Given the description of an element on the screen output the (x, y) to click on. 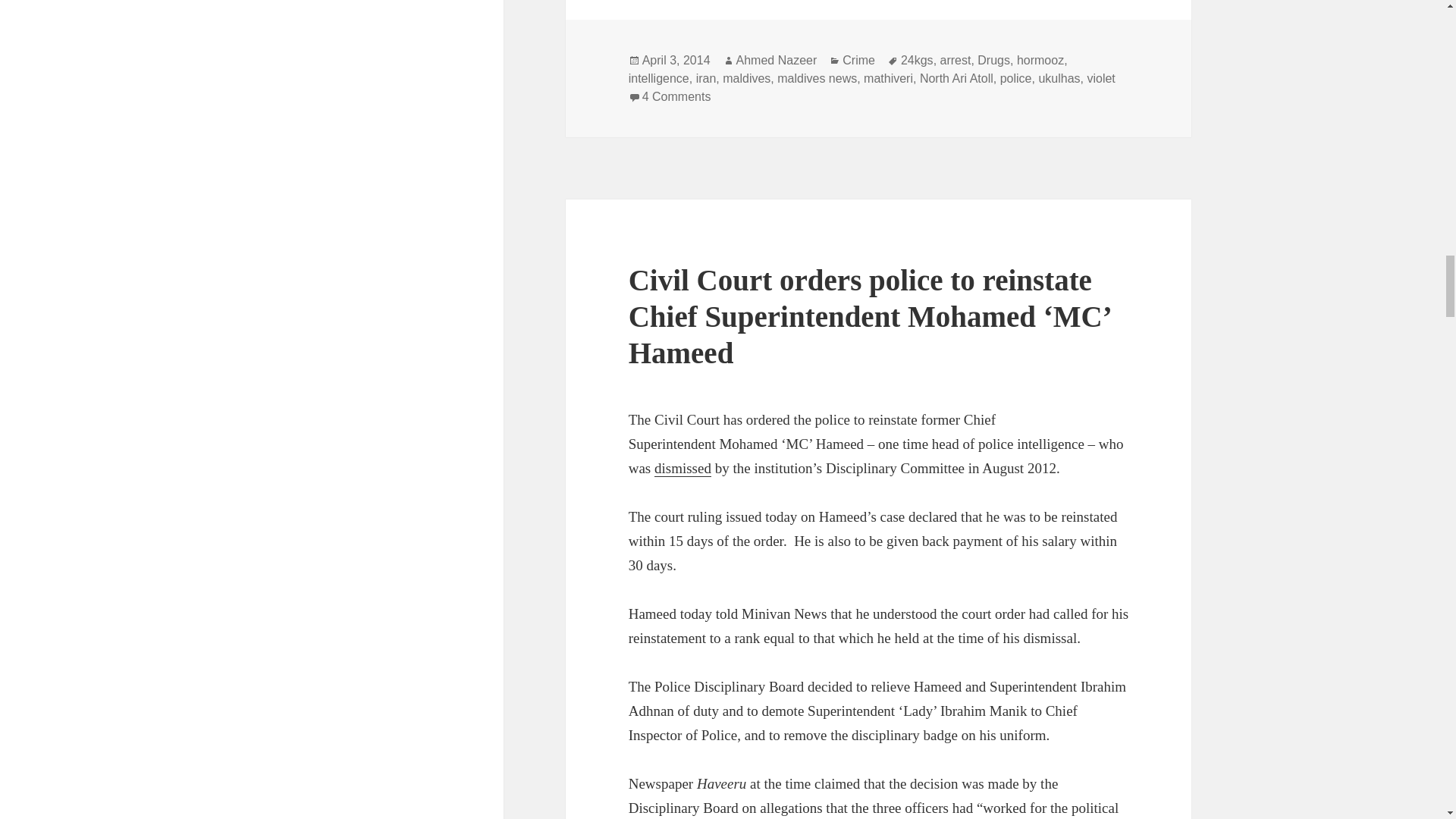
intelligence (658, 78)
arrest (955, 60)
April 3, 2014 (676, 60)
Crime (859, 60)
hormooz (1040, 60)
iran (705, 78)
maldives (746, 78)
Ahmed Nazeer (776, 60)
Drugs (993, 60)
24kgs (917, 60)
